Given the description of an element on the screen output the (x, y) to click on. 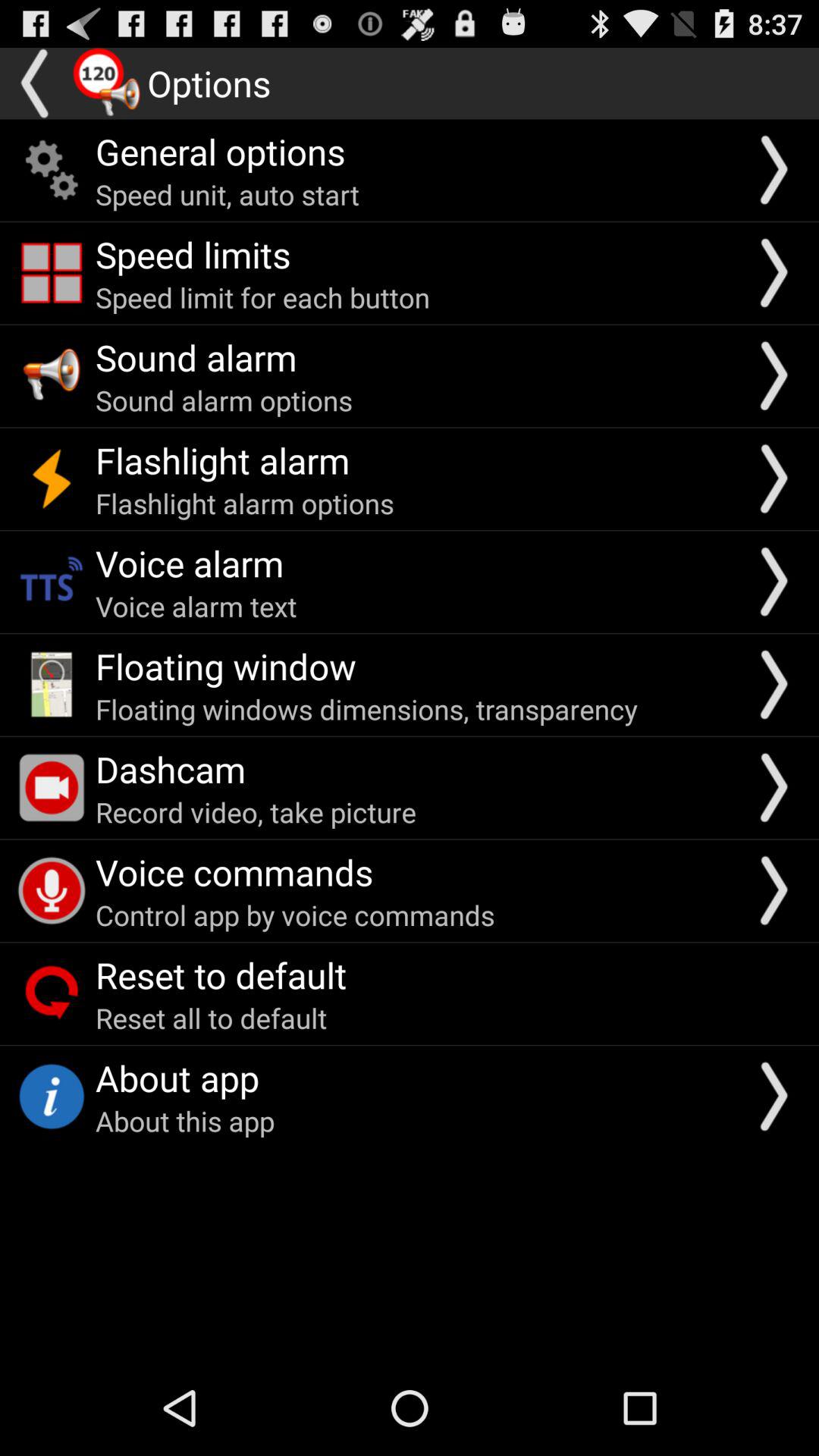
back button (35, 83)
